Given the description of an element on the screen output the (x, y) to click on. 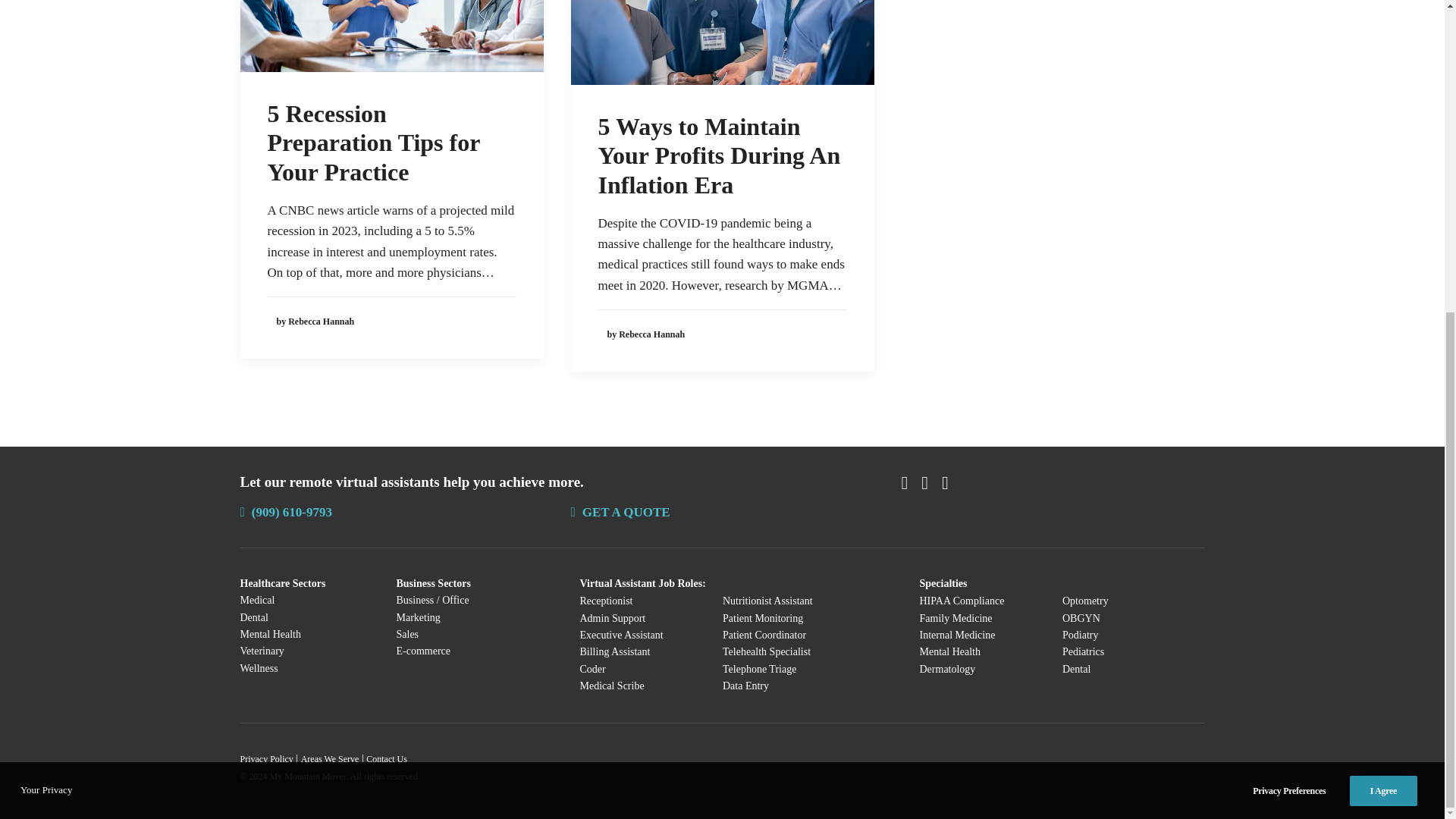
5 Recession Preparation Tips for Your Practice (372, 142)
